Given the description of an element on the screen output the (x, y) to click on. 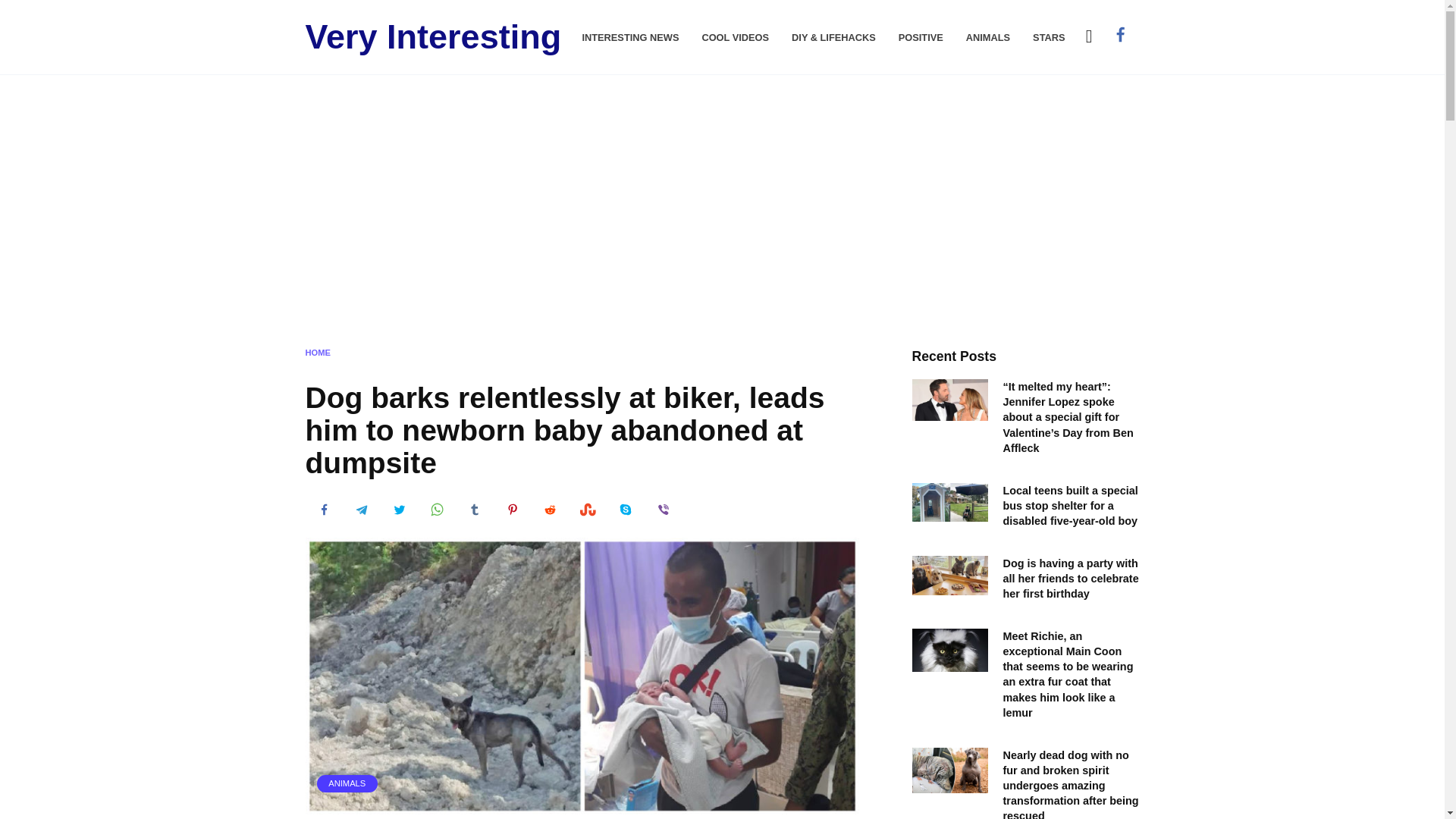
ANIMALS (988, 37)
COOL VIDEOS (734, 37)
STARS (1048, 37)
Very Interesting (432, 36)
POSITIVE (920, 37)
ANIMALS (347, 782)
HOME (317, 351)
INTERESTING NEWS (629, 37)
